Given the description of an element on the screen output the (x, y) to click on. 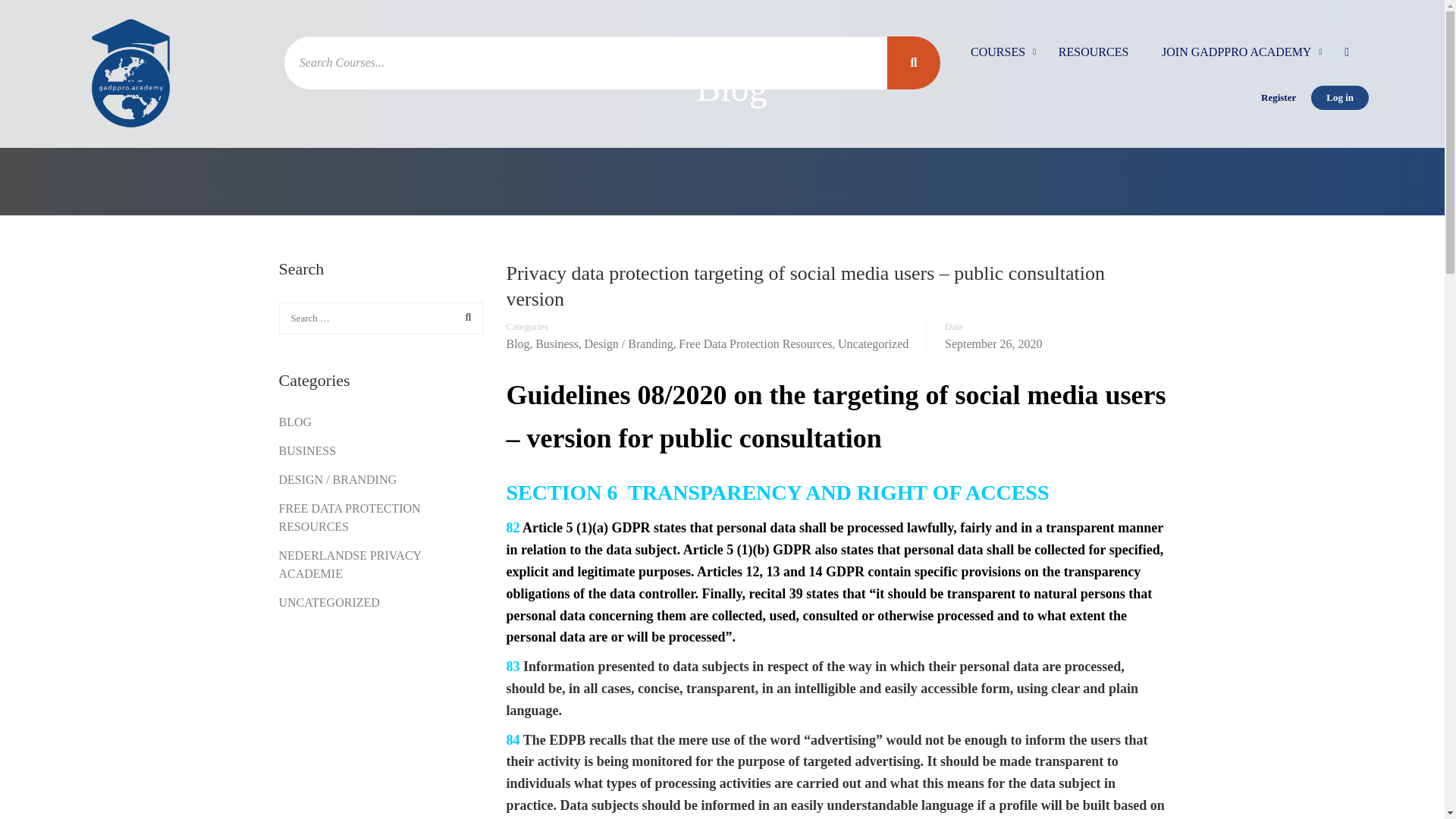
Register (1278, 96)
COURSES (998, 58)
RESOURCES (1092, 58)
Log in (1339, 96)
Blog (517, 344)
Search (464, 317)
Search (464, 317)
Business (556, 344)
Uncategorized (873, 344)
JOIN GADPPRO ACADEMY (1236, 58)
